Given the description of an element on the screen output the (x, y) to click on. 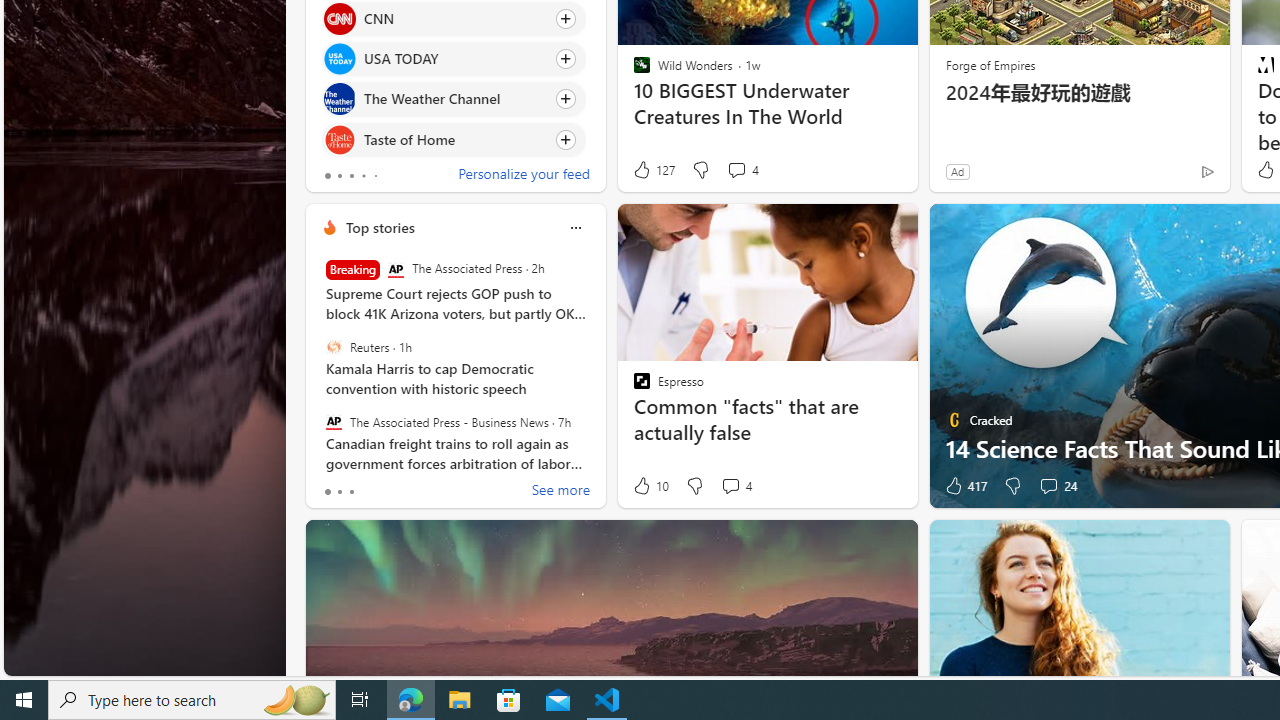
The Associated Press - Business News (333, 421)
The Associated Press (395, 270)
CNN (338, 18)
Click to follow source Taste of Home (453, 138)
Taste of Home (338, 139)
USA TODAY (338, 59)
Forge of Empires (989, 64)
Click to follow source The Weather Channel (453, 99)
Reuters (333, 347)
tab-2 (351, 491)
